Given the description of an element on the screen output the (x, y) to click on. 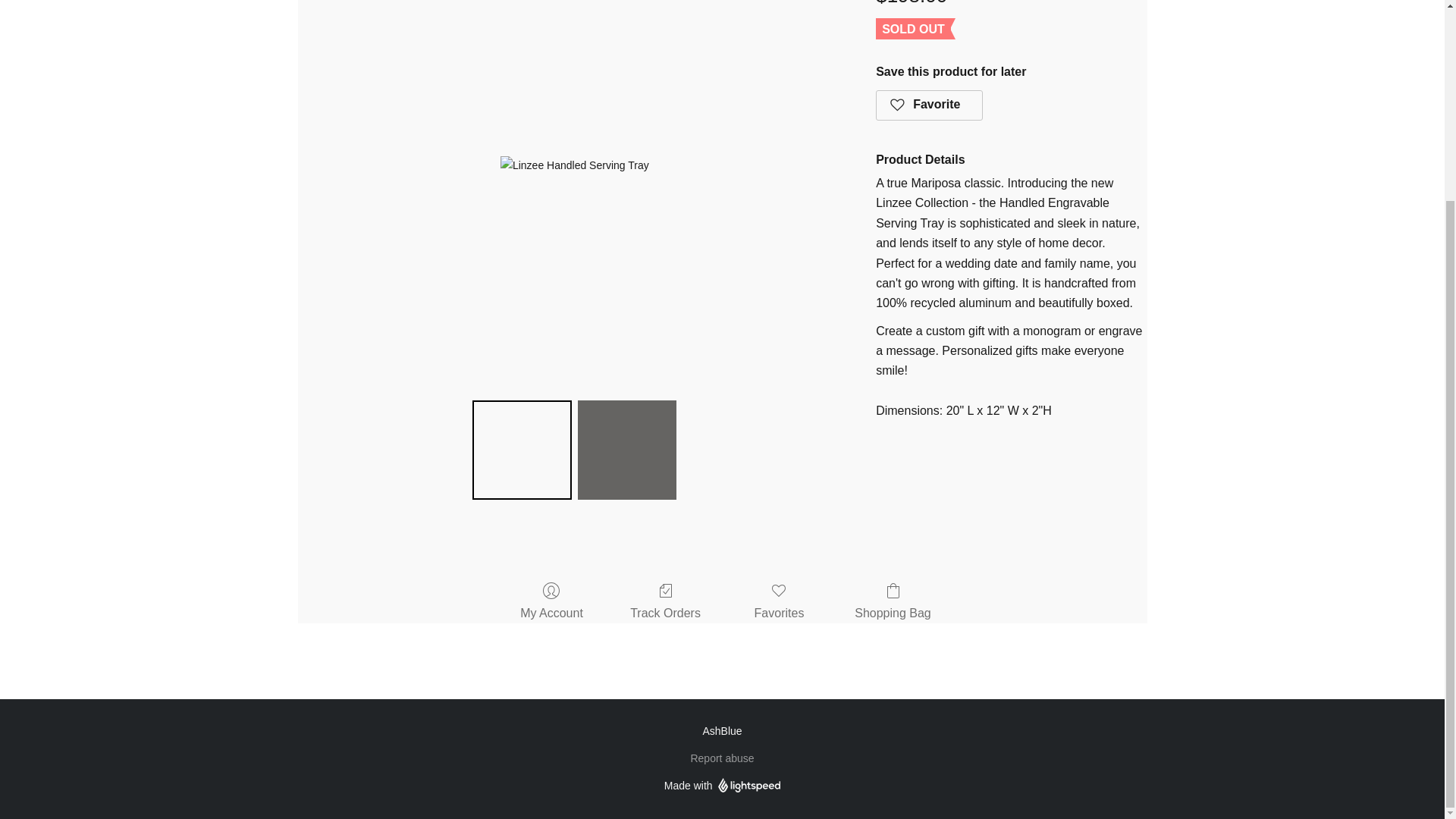
Shopping Bag (893, 602)
Track Orders (665, 602)
Favorites (779, 602)
My Account (551, 602)
Made with (721, 785)
Report abuse (722, 758)
Favorite (929, 105)
Linzee Handled Serving Tray (574, 165)
